Given the description of an element on the screen output the (x, y) to click on. 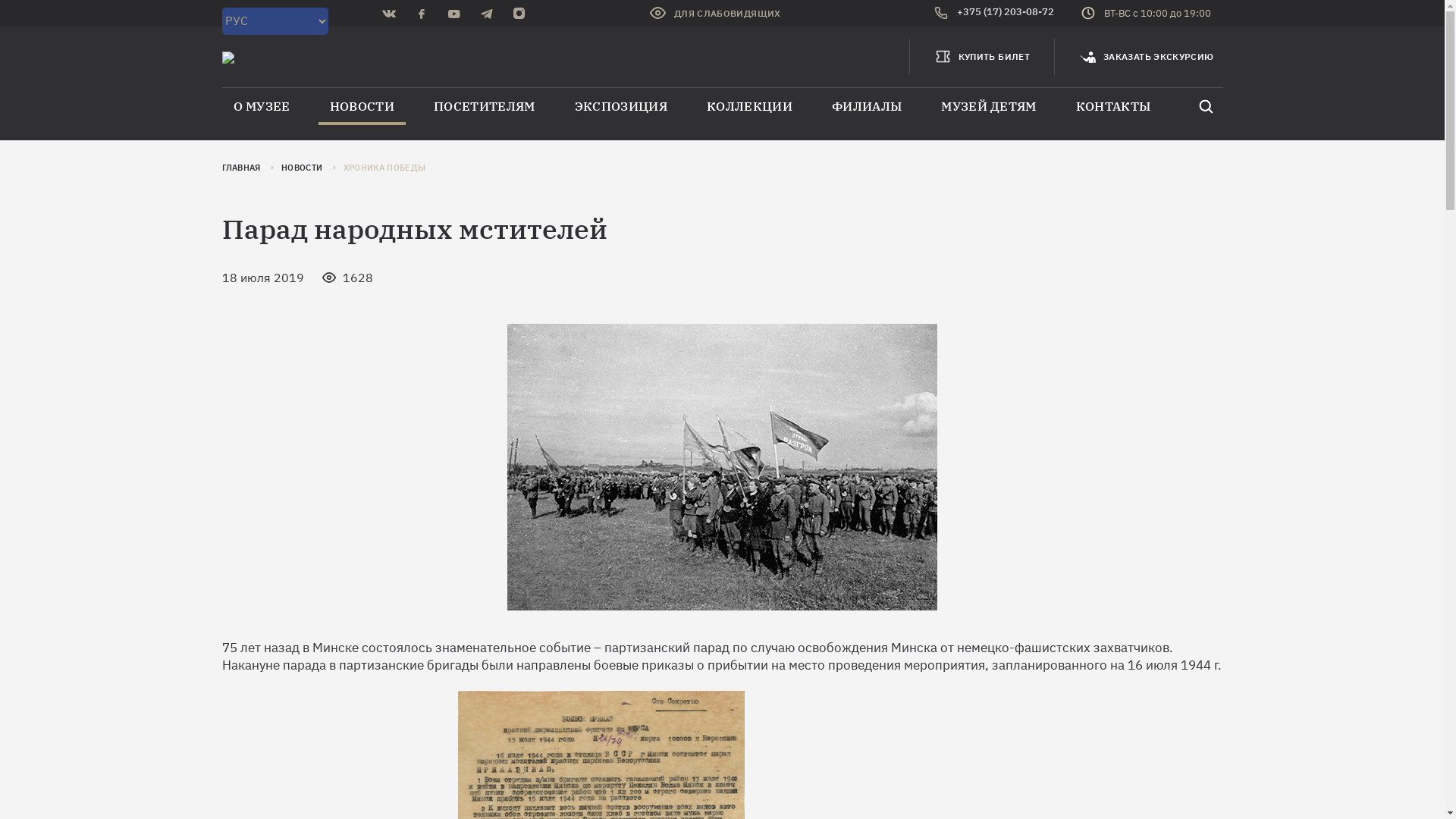
+375 (17) 203-08-72 Element type: text (994, 13)
